Given the description of an element on the screen output the (x, y) to click on. 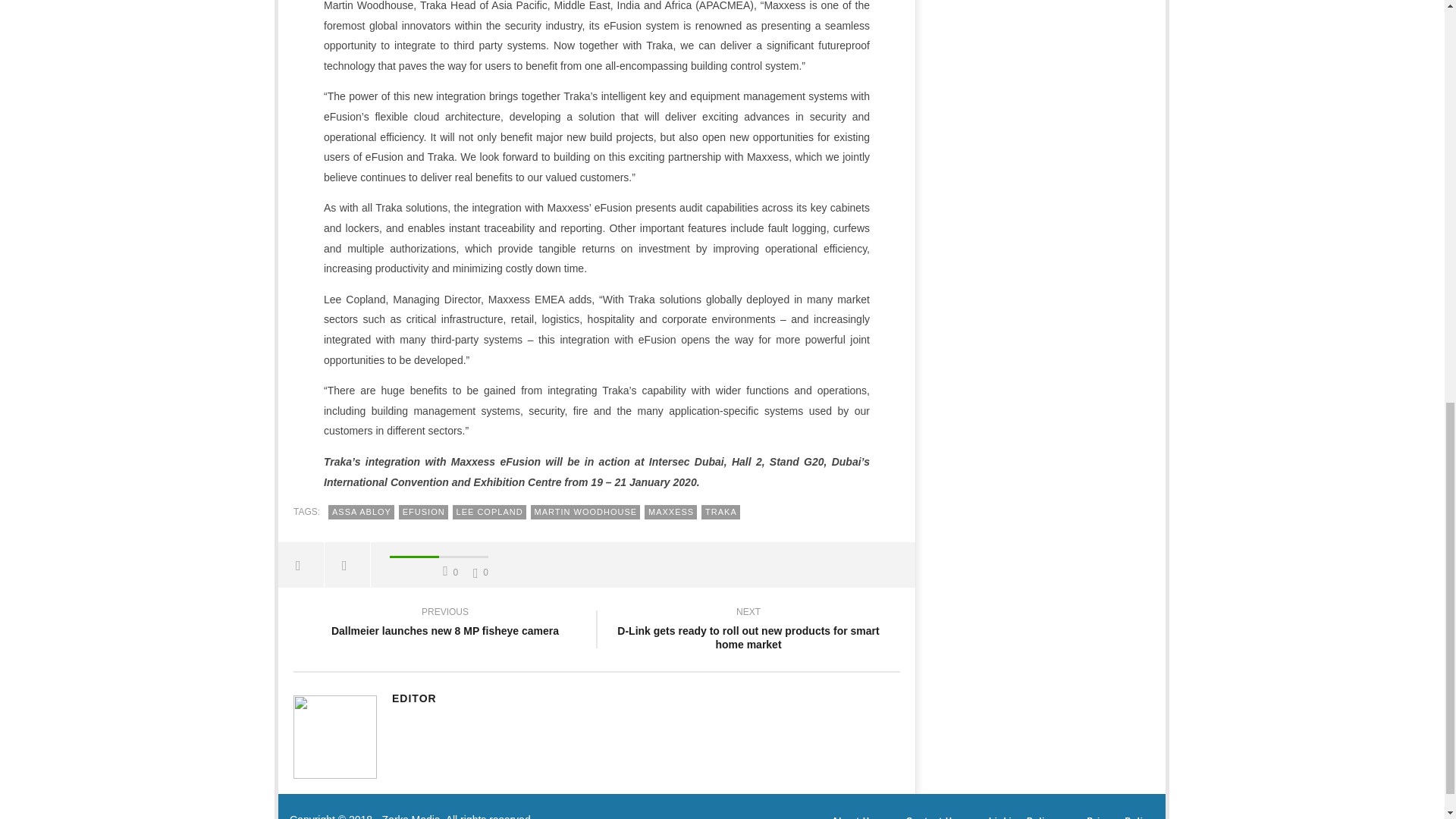
MARTIN WOODHOUSE (585, 512)
LEE COPLAND (488, 512)
EFUSION (423, 512)
MAXXESS (671, 512)
ASSA ABLOY (361, 512)
